Given the description of an element on the screen output the (x, y) to click on. 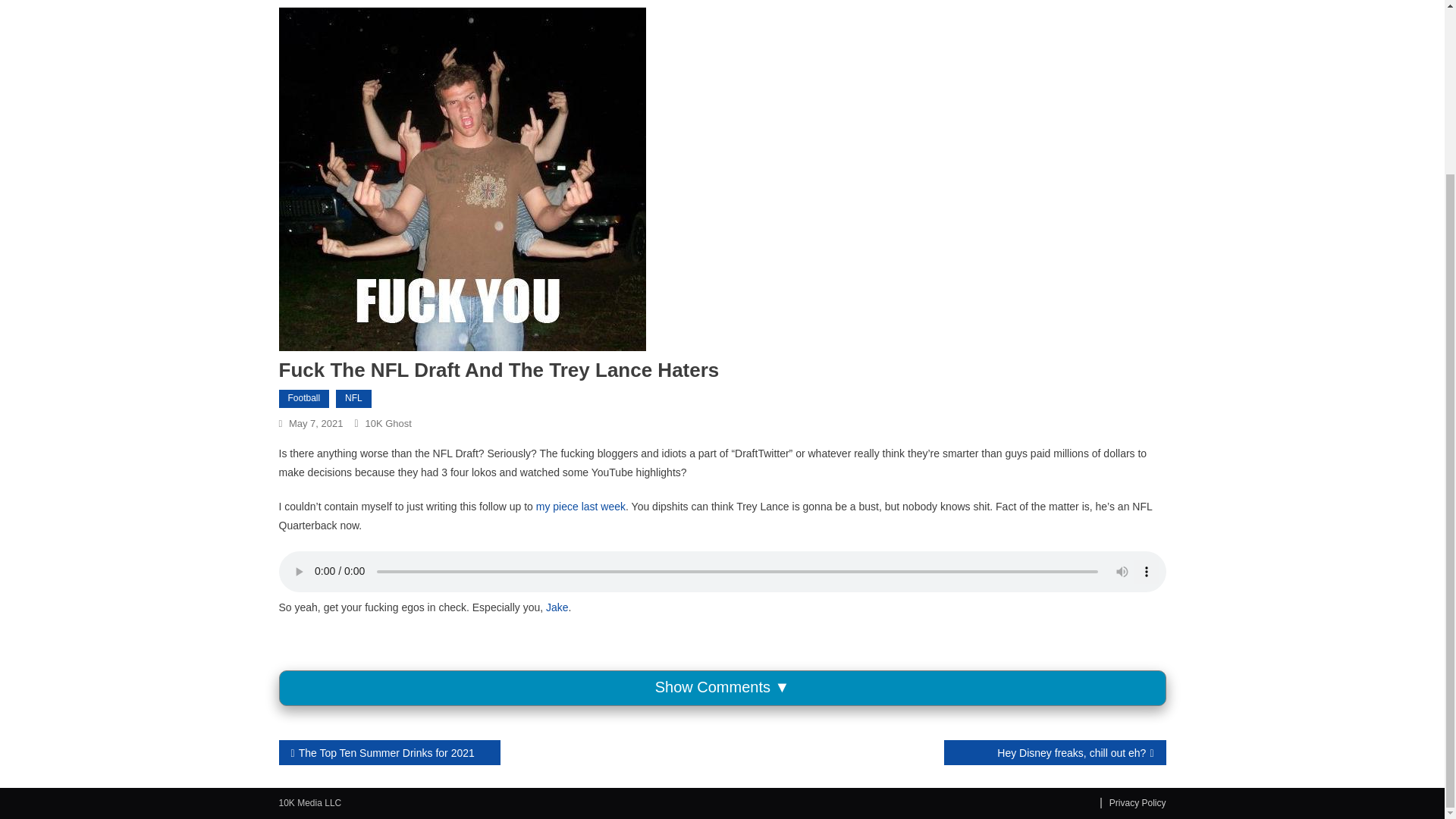
10K Ghost (387, 423)
Hey Disney freaks, chill out eh? (1054, 752)
Football (304, 398)
The Top Ten Summer Drinks for 2021 (389, 752)
my piece last week (580, 506)
Jake (557, 607)
Privacy Policy (1133, 802)
May 7, 2021 (315, 423)
NFL (353, 398)
